Given the description of an element on the screen output the (x, y) to click on. 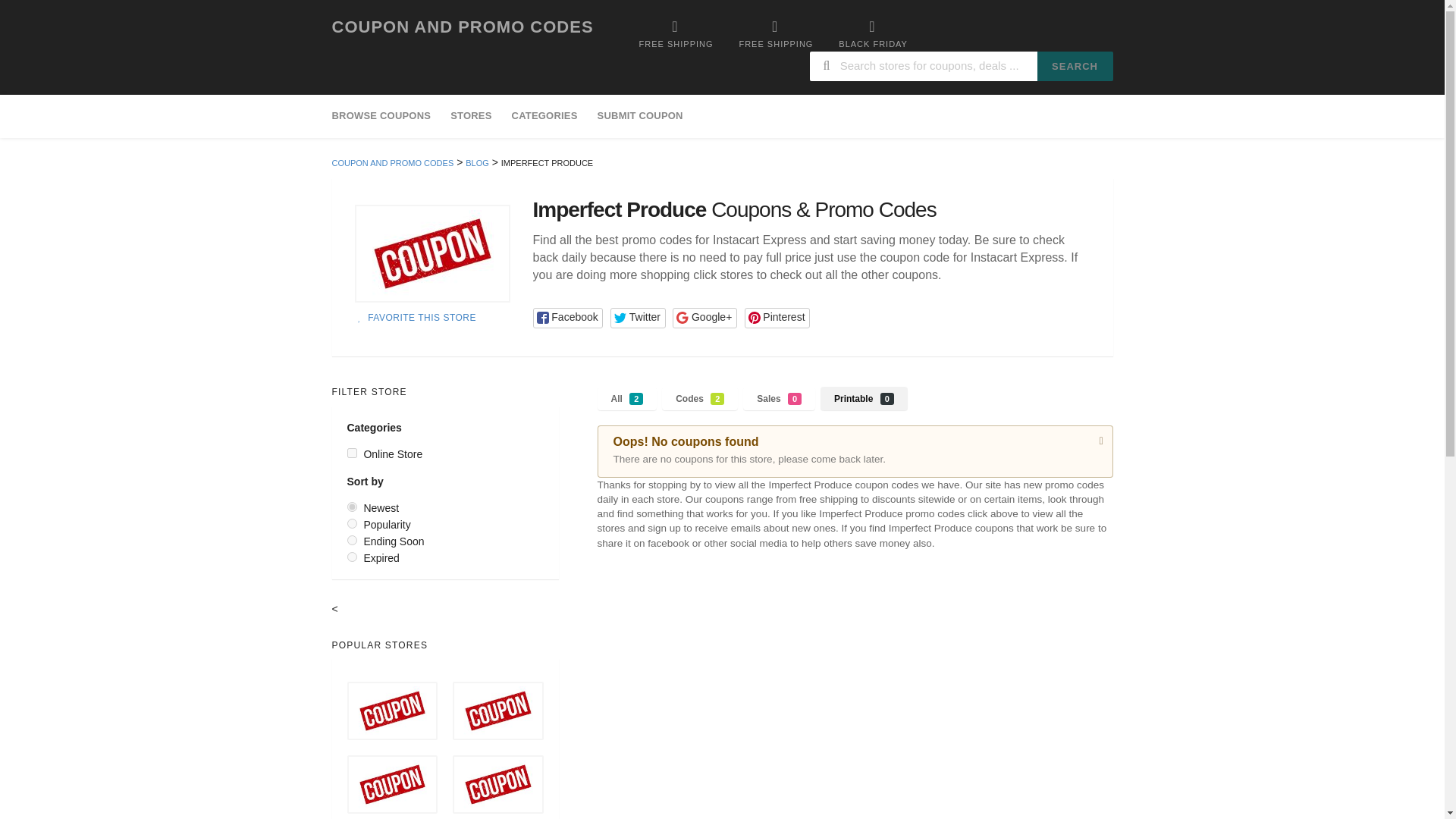
expired (351, 556)
COUPON AND PROMO CODES (462, 26)
All 2 (433, 253)
SUBMIT COUPON (627, 398)
CATEGORIES (640, 116)
Coupon and Promo Codes (545, 116)
STORES (462, 26)
SEARCH (470, 116)
